Given the description of an element on the screen output the (x, y) to click on. 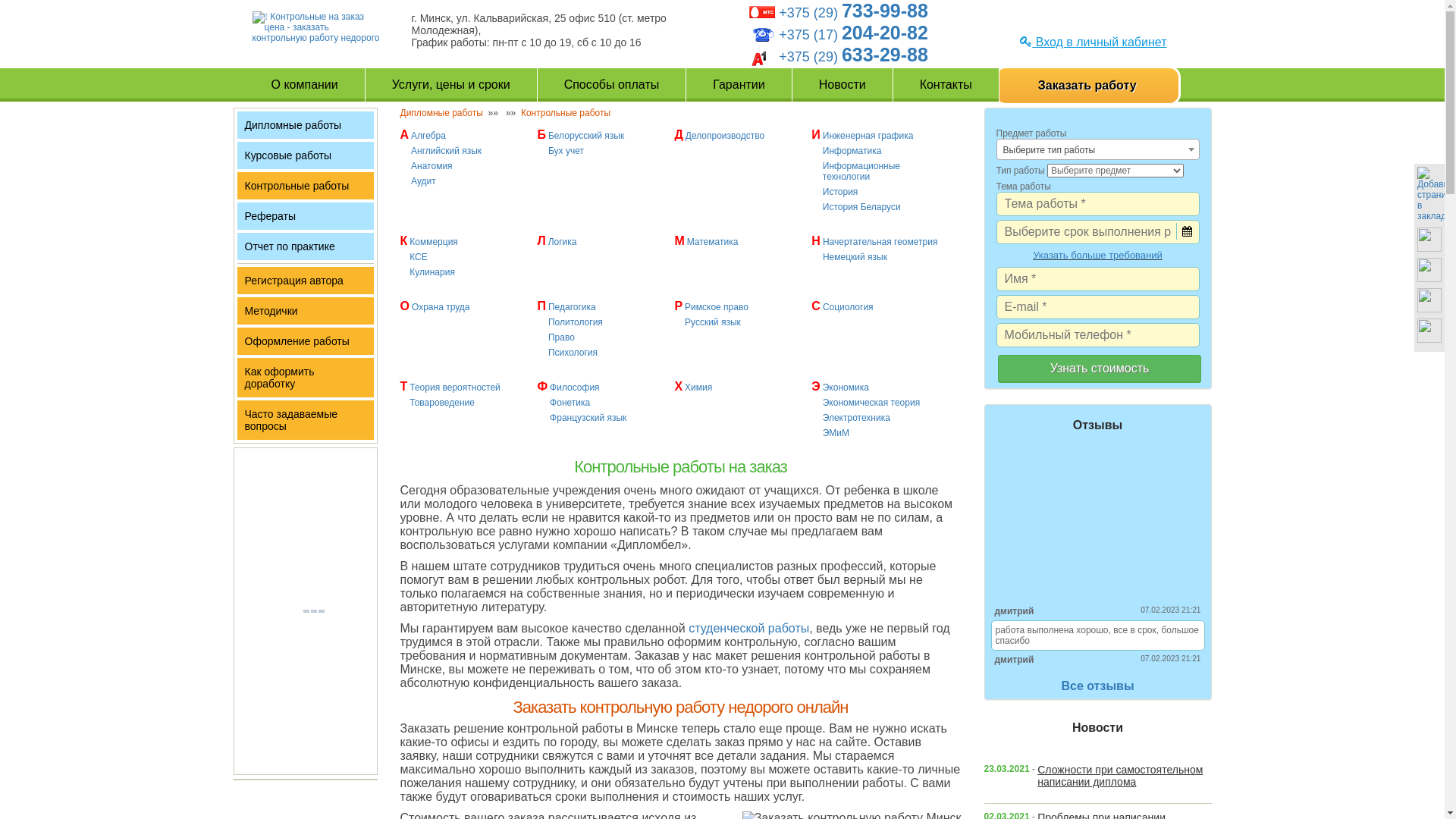
+375 (29) 633-29-88 Element type: text (853, 56)
+375 (29) 733-99-88 Element type: text (853, 12)
+375 (17) 204-20-82 Element type: text (853, 34)
